Given the description of an element on the screen output the (x, y) to click on. 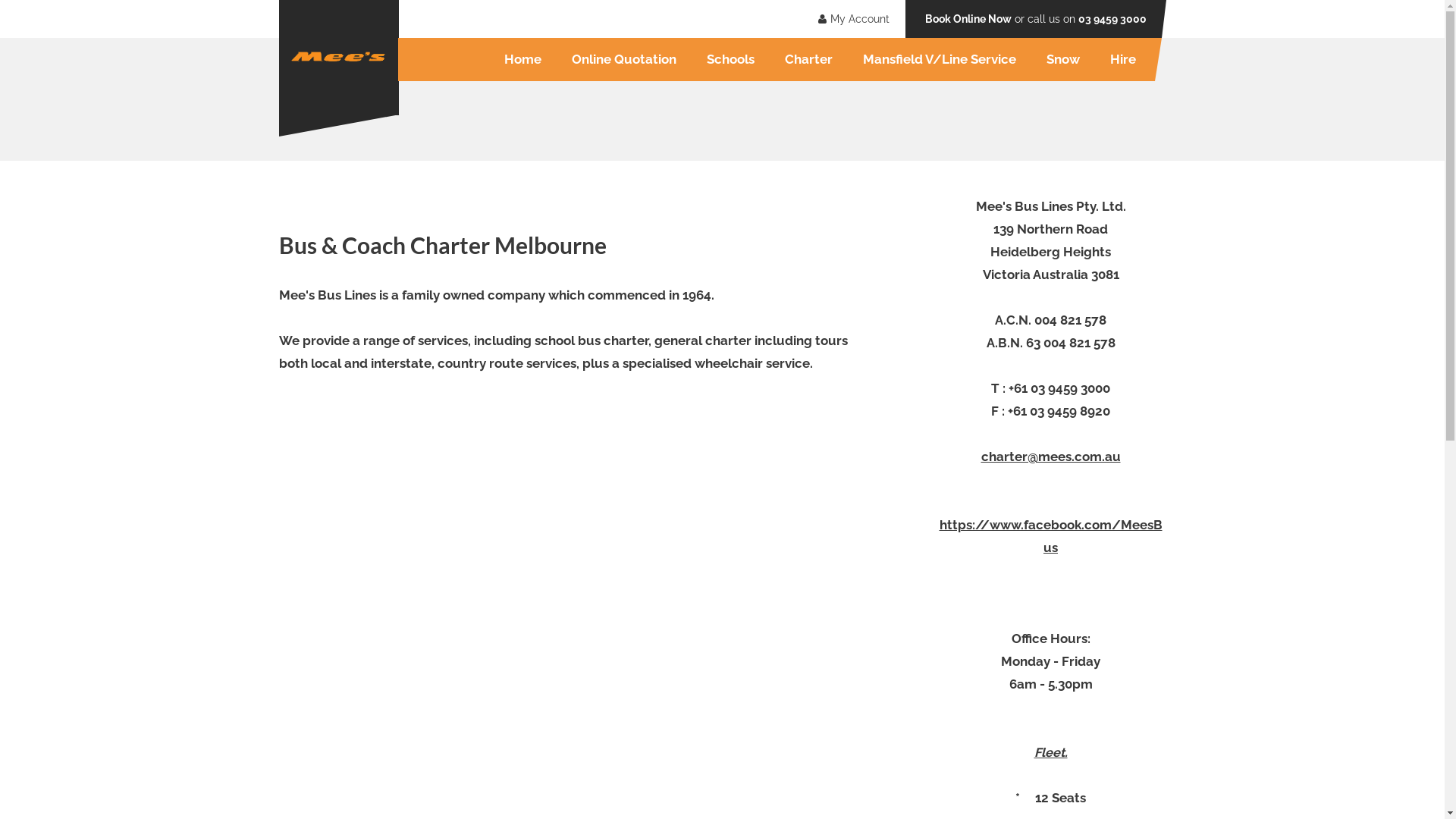
Hire Element type: text (1123, 59)
charter@mees.com.au Element type: text (1050, 456)
My Account Element type: text (851, 18)
Schools Element type: text (730, 59)
Snow Element type: text (1063, 59)
Mansfield V/Line Service Element type: text (939, 59)
https://www.facebook.com/MeesBus Element type: text (1049, 536)
03 9459 3000 Element type: text (1112, 18)
Online Quotation Element type: text (623, 59)
Charter Element type: text (807, 59)
Mee's Bus Lines Pty Ltd | Tel: 03 9459 3000 Element type: hover (338, 57)
Home Element type: text (521, 59)
